Given the description of an element on the screen output the (x, y) to click on. 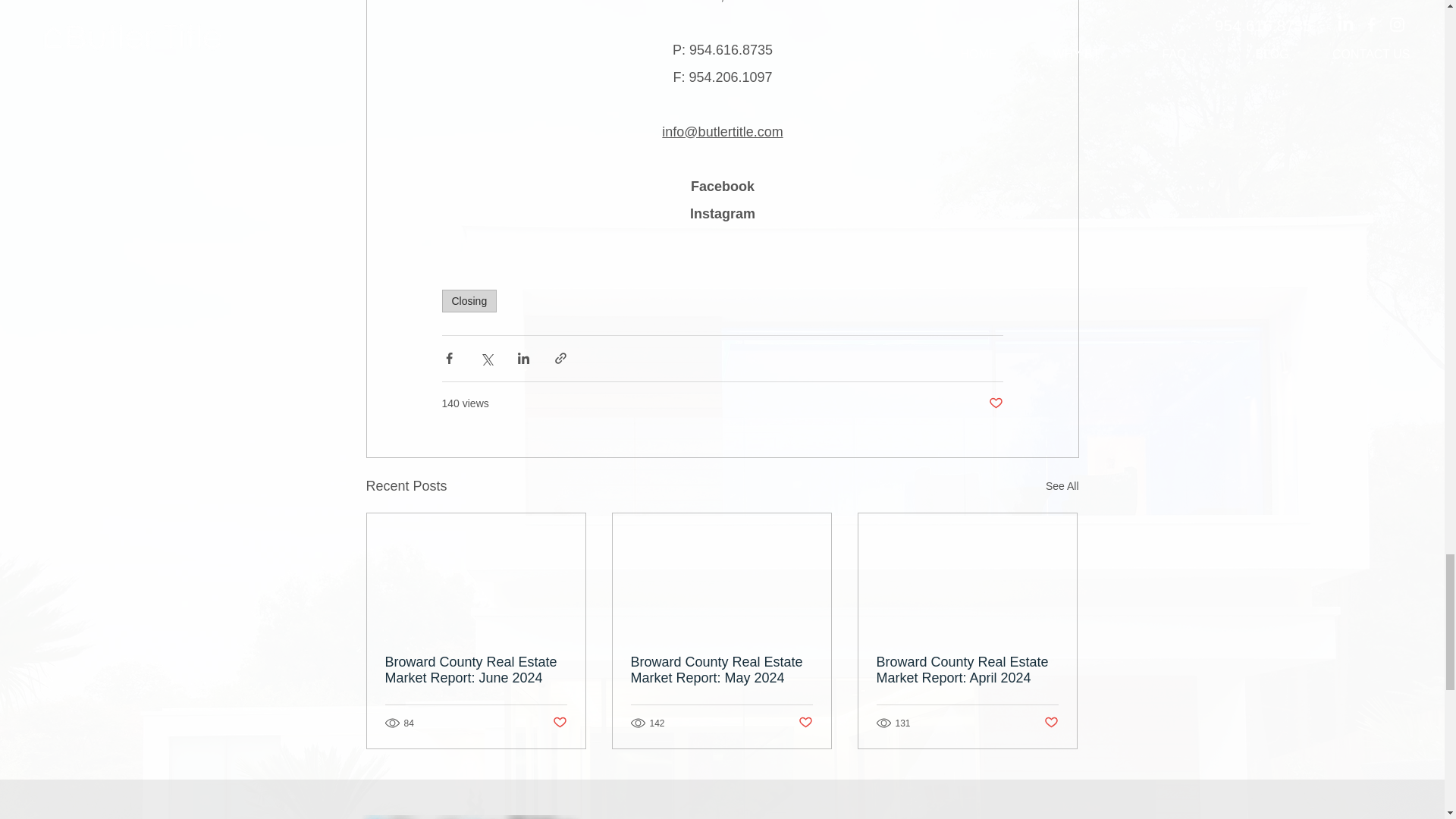
Post not marked as liked (558, 722)
Post not marked as liked (1050, 722)
Post not marked as liked (995, 403)
Instagram (721, 213)
Closing (468, 300)
Broward County Real Estate Market Report: May 2024 (721, 670)
See All (1061, 486)
Facebook (722, 186)
Broward County Real Estate Market Report: April 2024 (967, 670)
Plantation, FL 33324 (721, 1)
Broward County Real Estate Market Report: June 2024 (476, 670)
Post not marked as liked (804, 722)
